Given the description of an element on the screen output the (x, y) to click on. 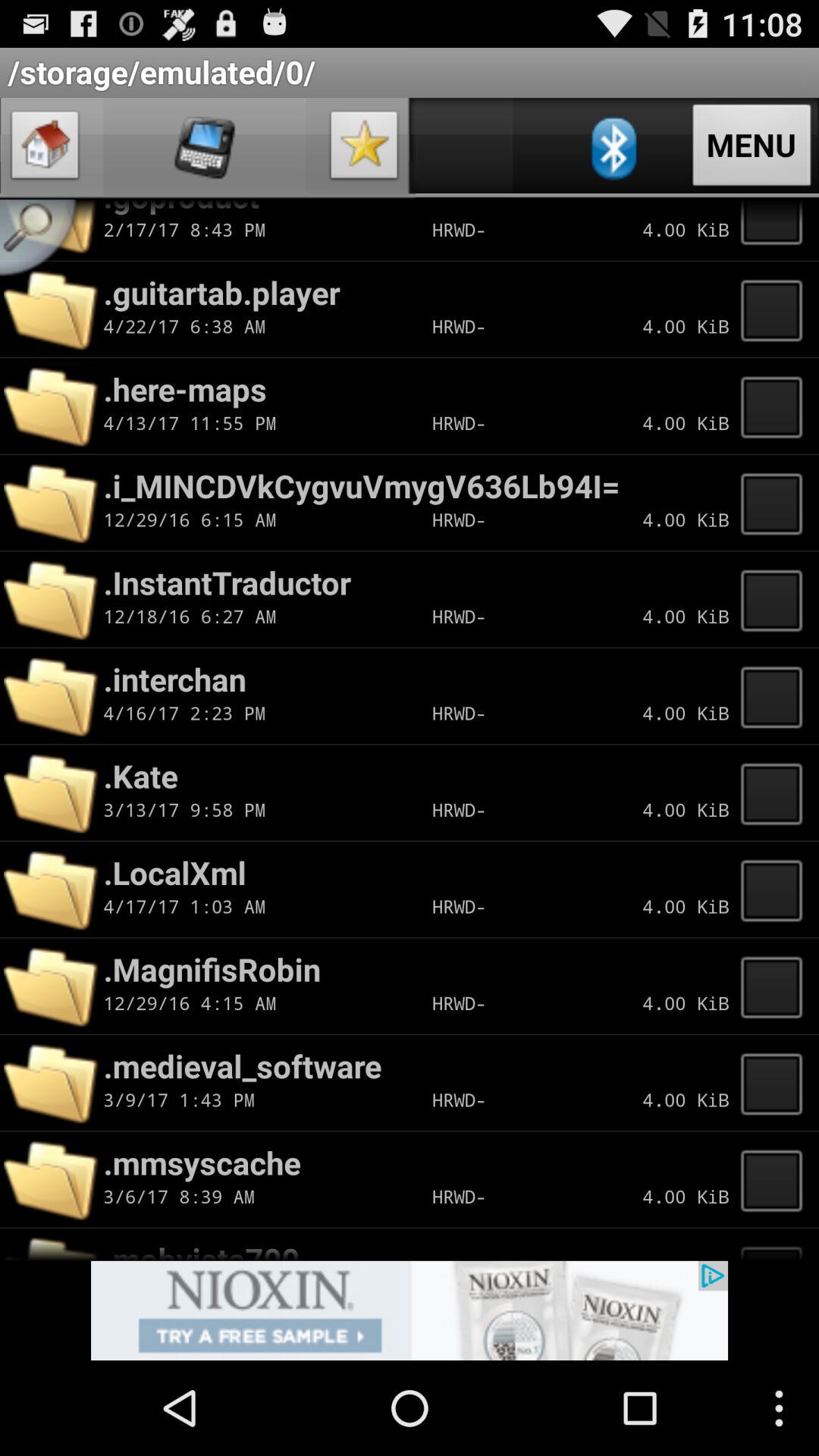
advertisement (409, 1310)
